Given the description of an element on the screen output the (x, y) to click on. 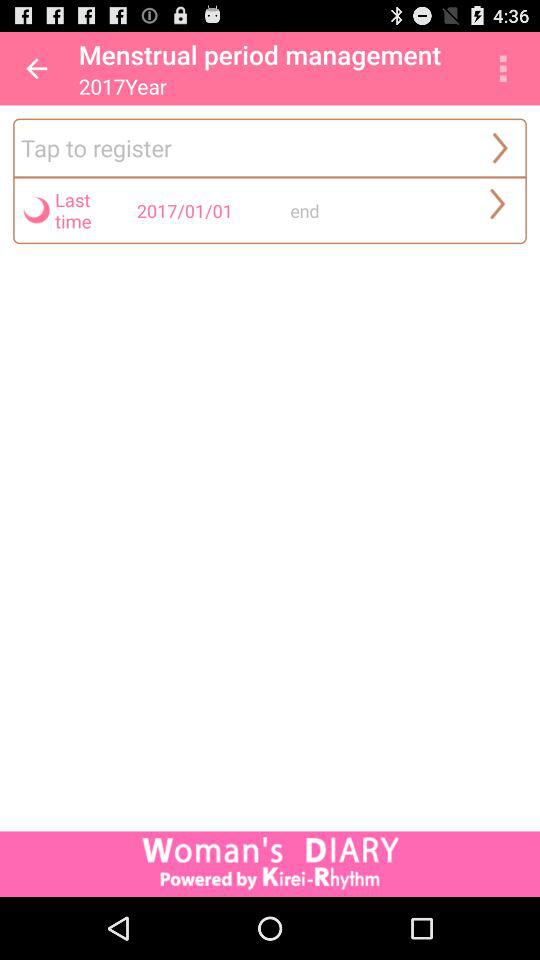
turn on the icon next to menstrual period management item (503, 67)
